Given the description of an element on the screen output the (x, y) to click on. 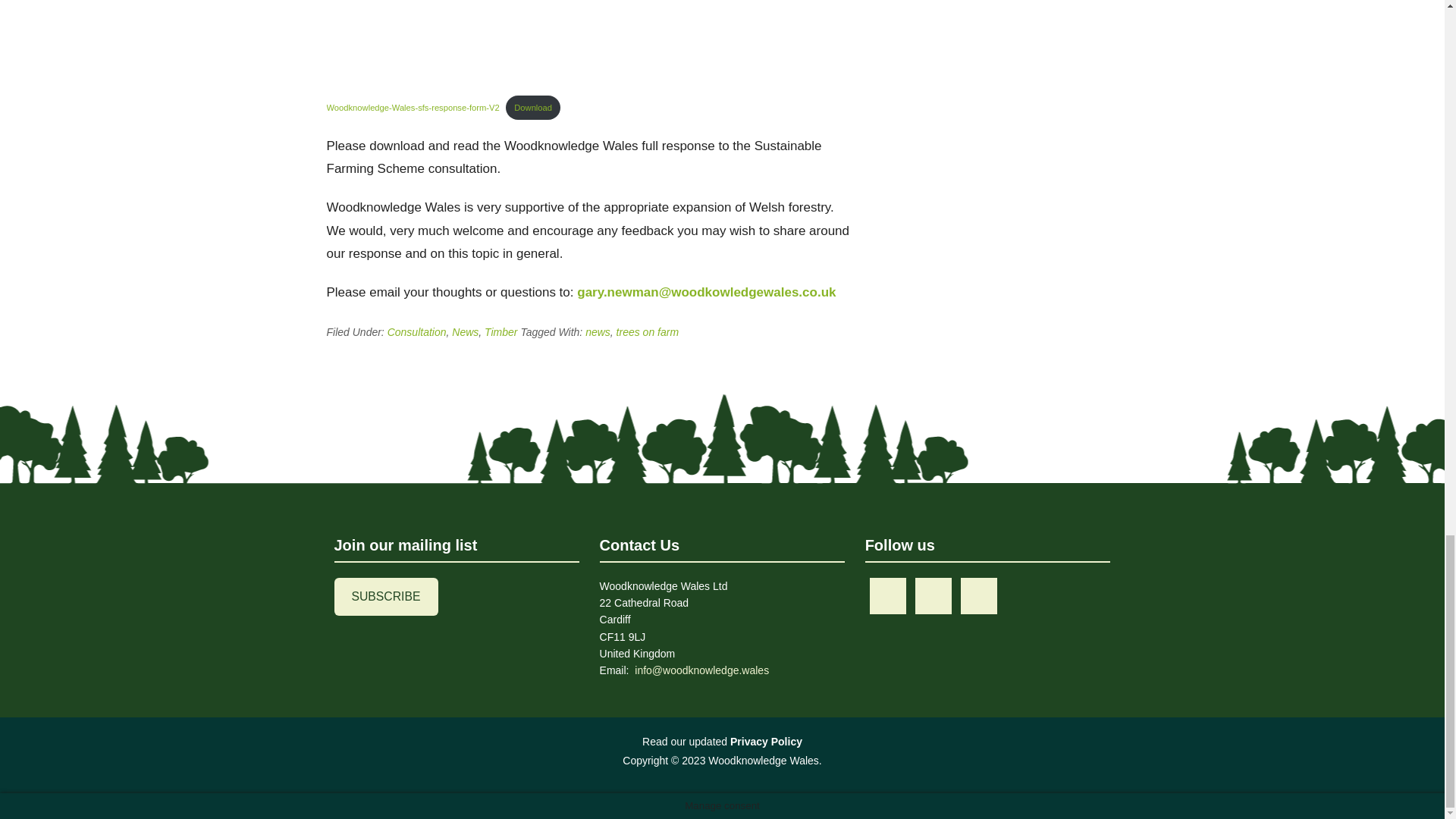
news (597, 331)
Timber (500, 331)
News (465, 331)
Consultation (416, 331)
trees on farm (646, 331)
Woodknowledge-Wales-sfs-response-form-V2 (412, 107)
Download (532, 106)
